Given the description of an element on the screen output the (x, y) to click on. 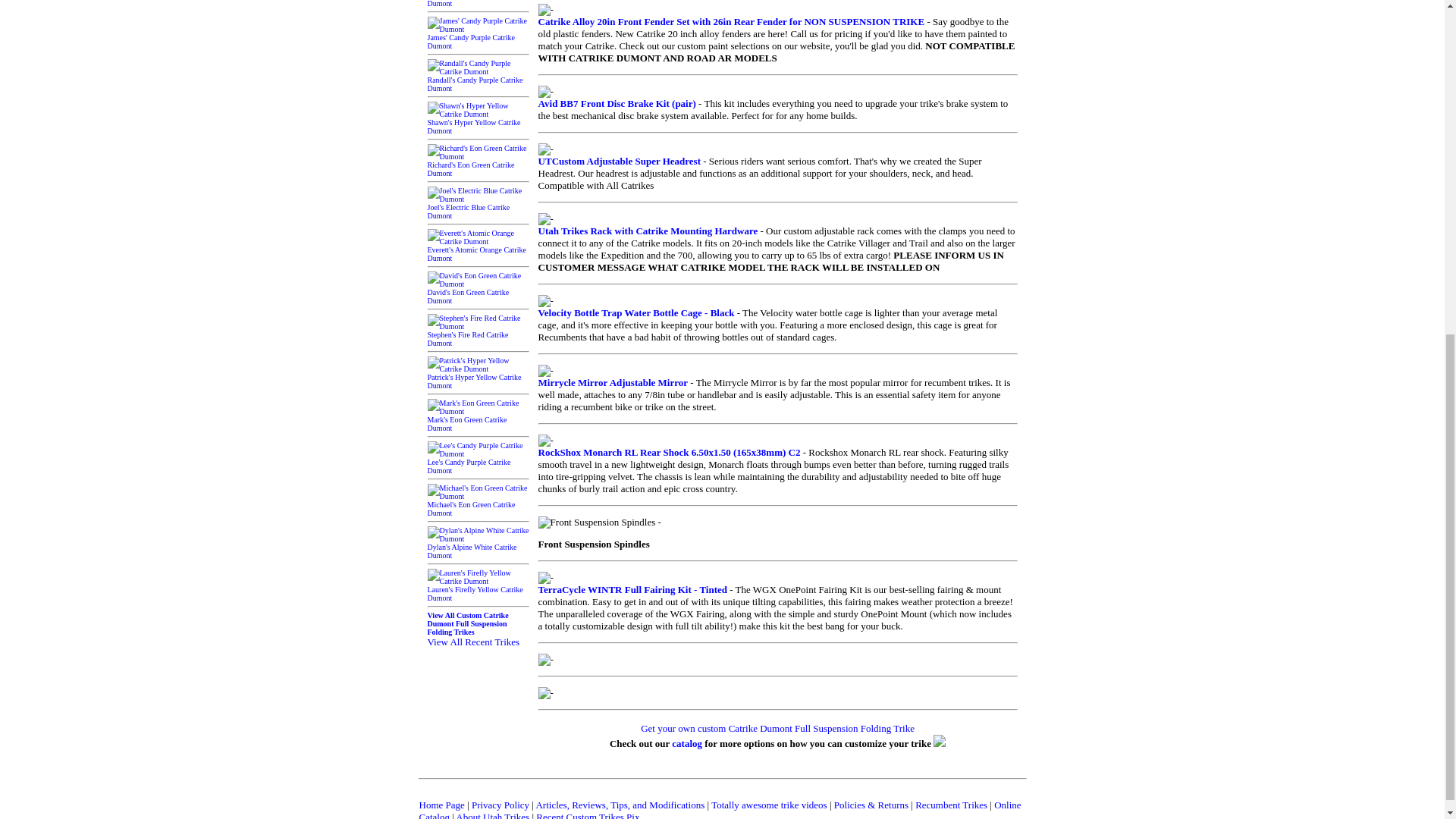
Randall's Candy Purple Catrike Dumont (478, 79)
Everett's Atomic Orange Catrike Dumont (478, 249)
Mark's Eon Green Catrike Dumont (478, 419)
Michael's Eon Green Catrike Dumont (478, 504)
Kevin's Lava Red Catrike Dumont (478, 3)
Lee's Candy Purple Catrike Dumont (478, 462)
David's Eon Green Catrike Dumont (478, 292)
Stephen's Fire Red Catrike Dumont (478, 334)
James' Candy Purple Catrike Dumont (478, 37)
Richard's Eon Green Catrike Dumont (478, 164)
